Given the description of an element on the screen output the (x, y) to click on. 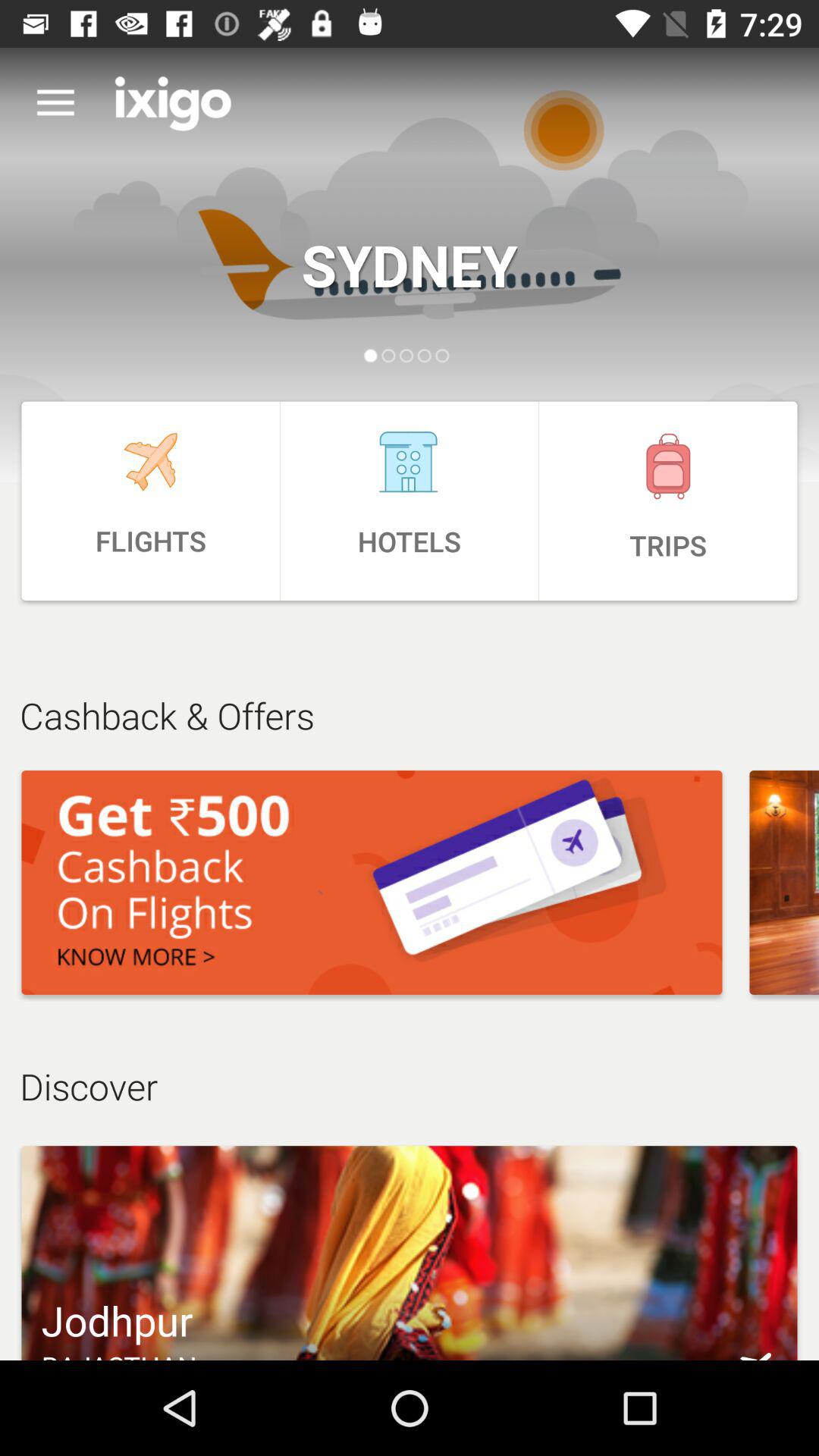
tap item next to hotels item (668, 500)
